Given the description of an element on the screen output the (x, y) to click on. 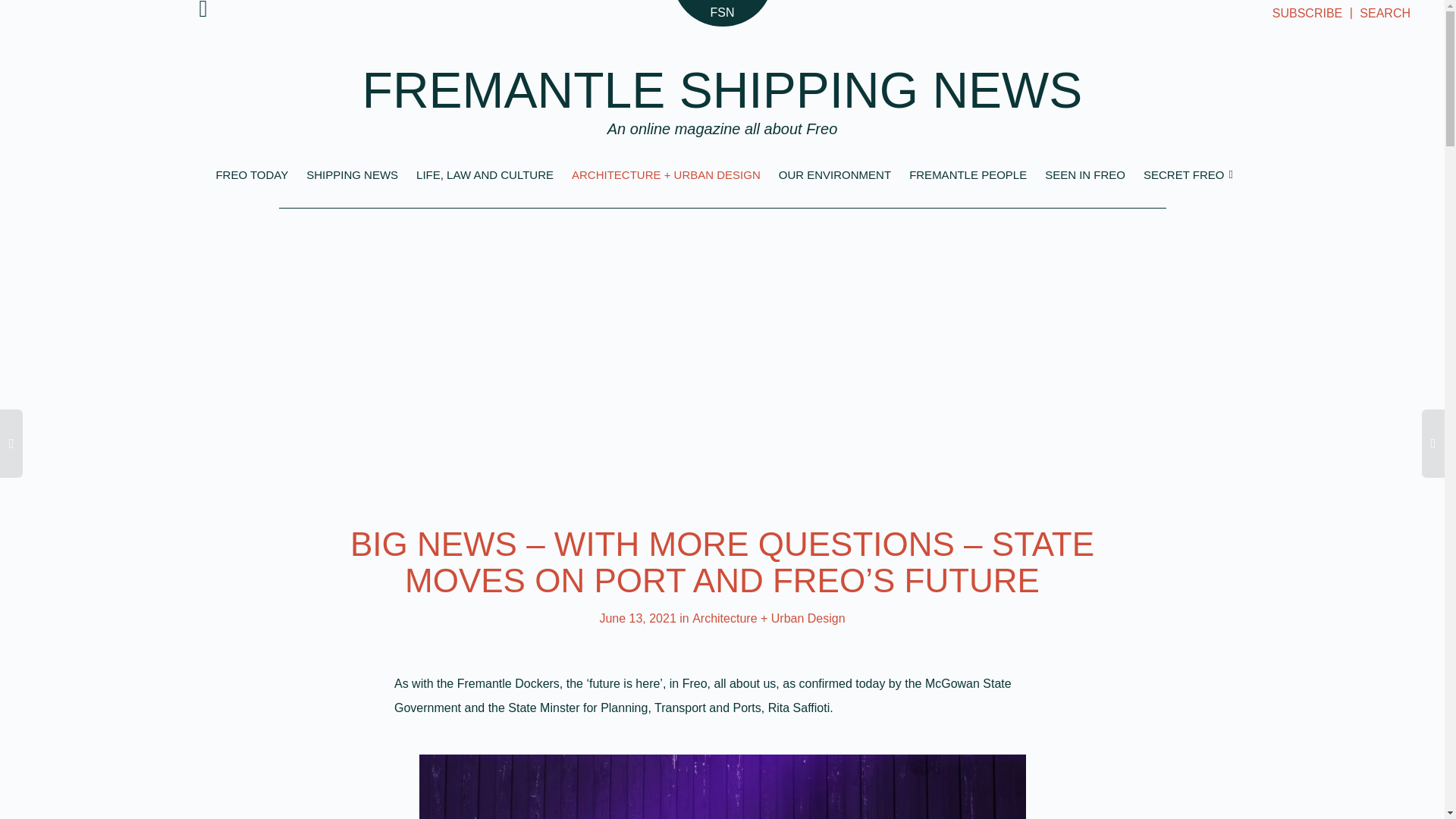
FREMANTLE PEOPLE (967, 175)
OUR ENVIRONMENT (834, 175)
SEARCH (1384, 12)
SHIPPING NEWS (351, 172)
SEEN IN FREO (1085, 175)
FREO TODAY (251, 171)
LIFE, LAW AND CULTURE (484, 173)
June 13, 2021 (636, 617)
FREMANTLE SHIPPING NEWS (731, 91)
SECRET FREO (1185, 175)
Advertisement (721, 346)
SUBSCRIBE (1307, 12)
